Given the description of an element on the screen output the (x, y) to click on. 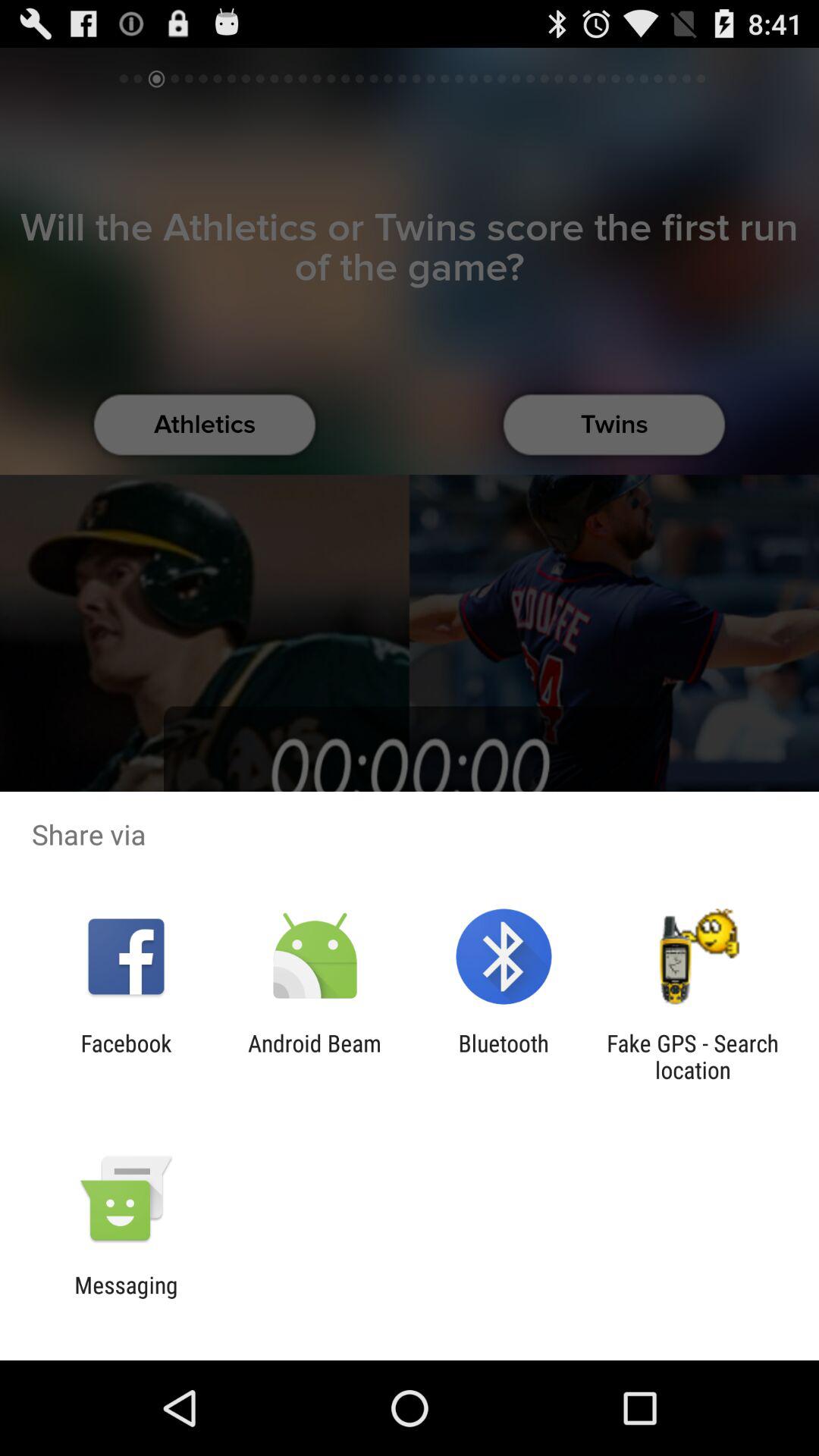
choose android beam (314, 1056)
